Given the description of an element on the screen output the (x, y) to click on. 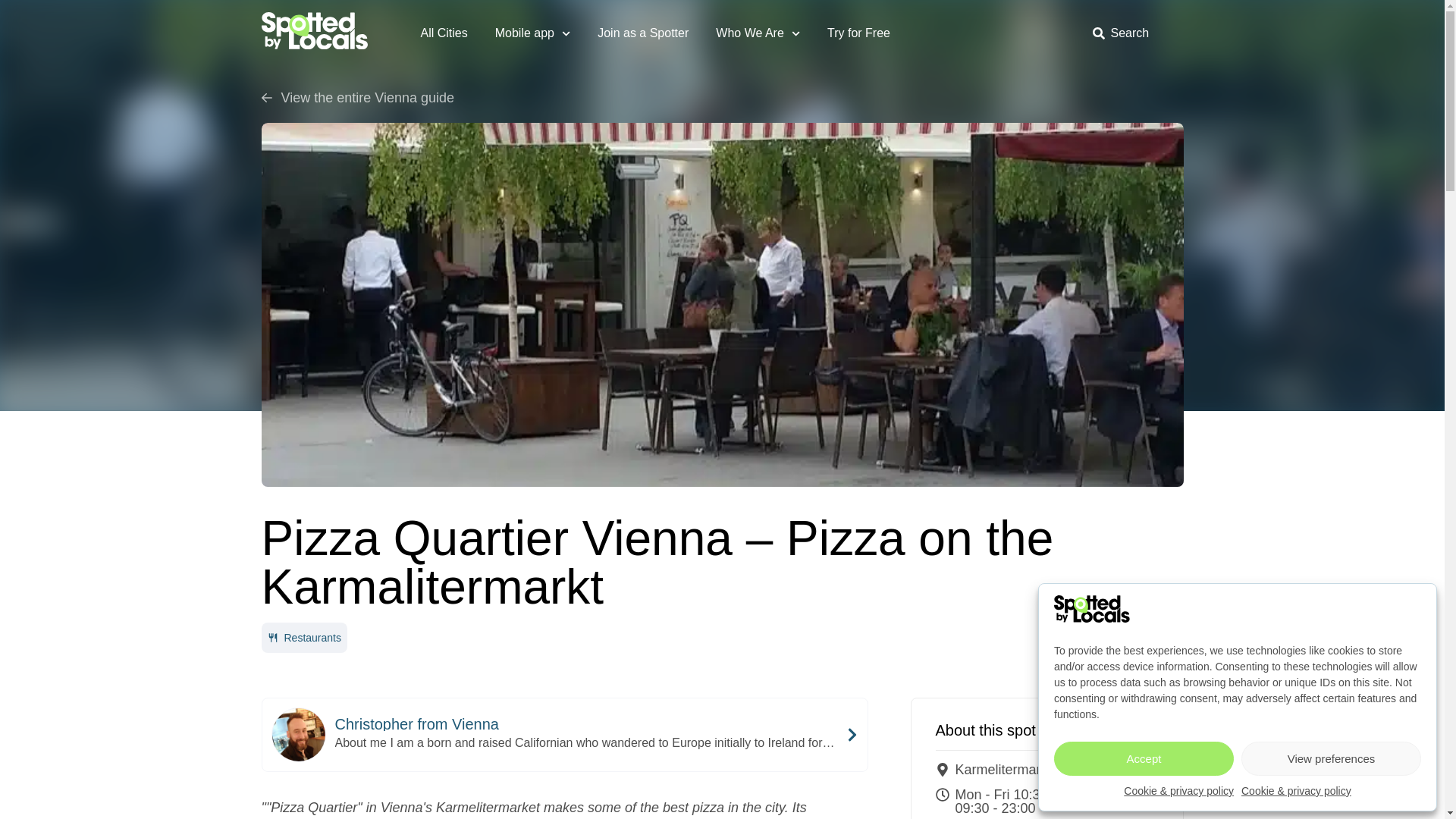
Mobile app (532, 33)
Join as a Spotter (642, 33)
Who We Are (758, 33)
All Cities (443, 33)
Accept (1143, 758)
Try for Free (858, 33)
View preferences (1331, 758)
